Given the description of an element on the screen output the (x, y) to click on. 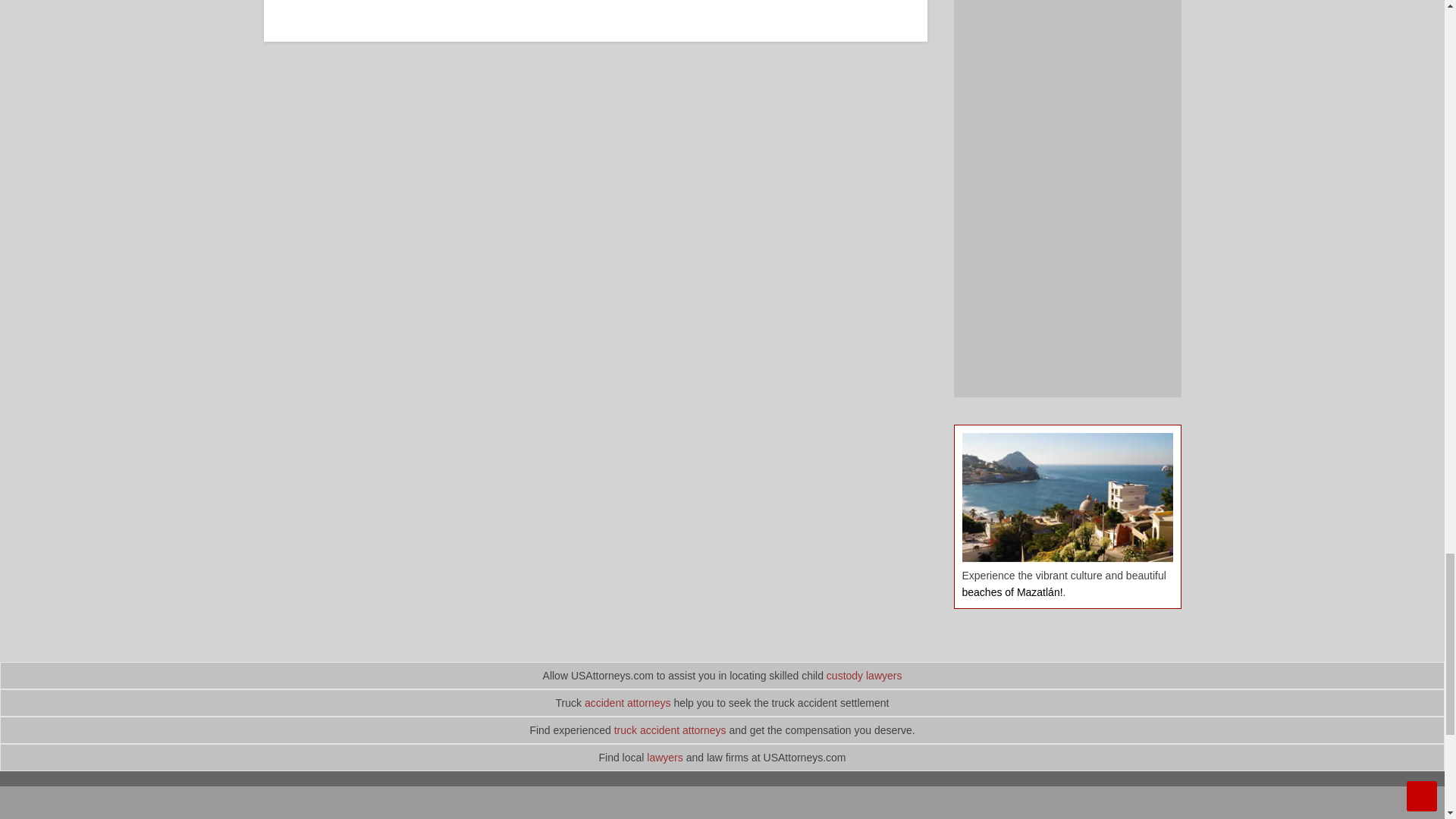
custody lawyers (864, 675)
accident attorneys (628, 702)
truck accident attorneys (670, 729)
lawyers (664, 757)
